Given the description of an element on the screen output the (x, y) to click on. 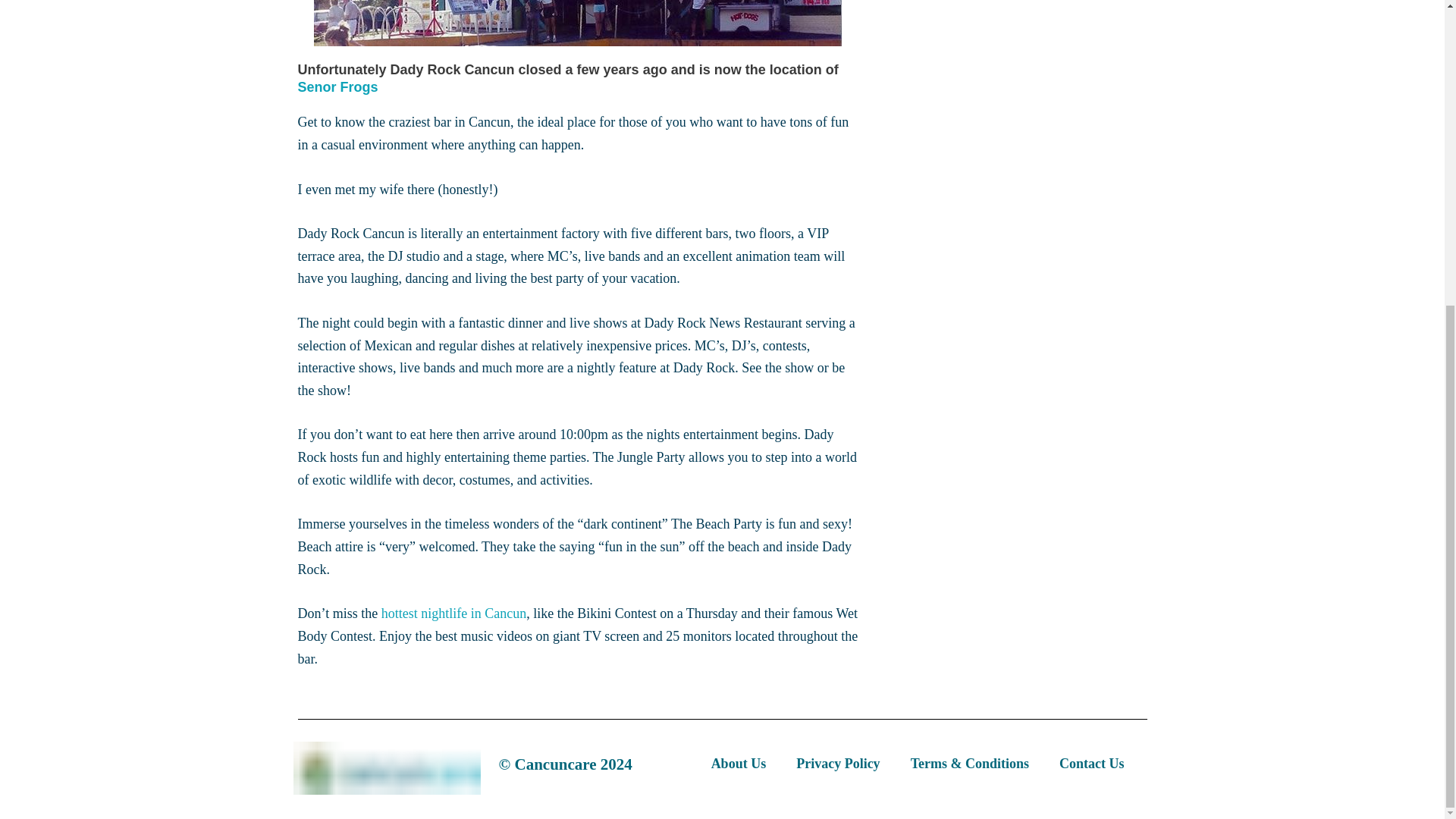
Dady Rock Cancun 2 (577, 22)
